Given the description of an element on the screen output the (x, y) to click on. 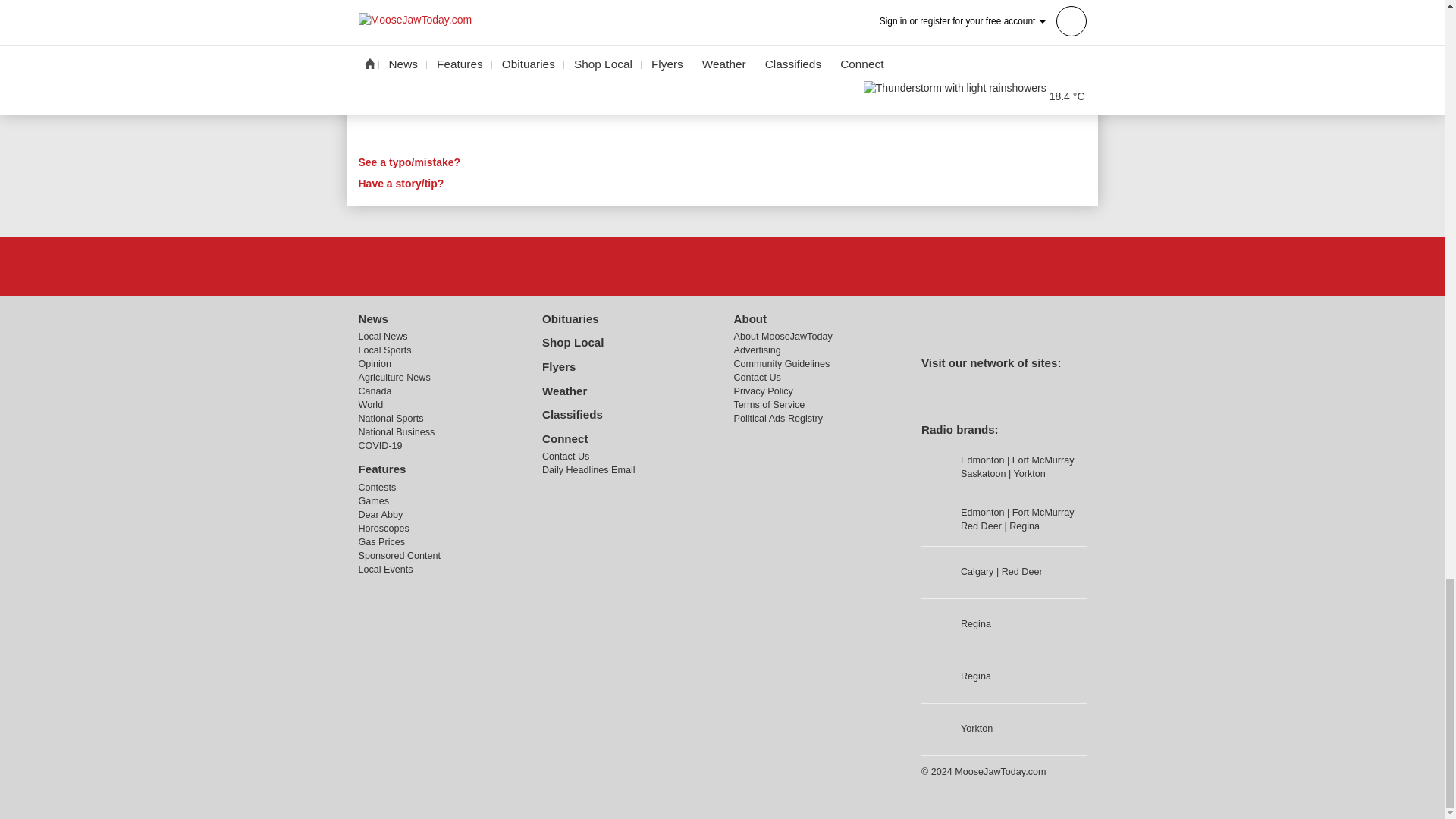
X (721, 265)
Facebook (683, 265)
Instagram (760, 265)
